Given the description of an element on the screen output the (x, y) to click on. 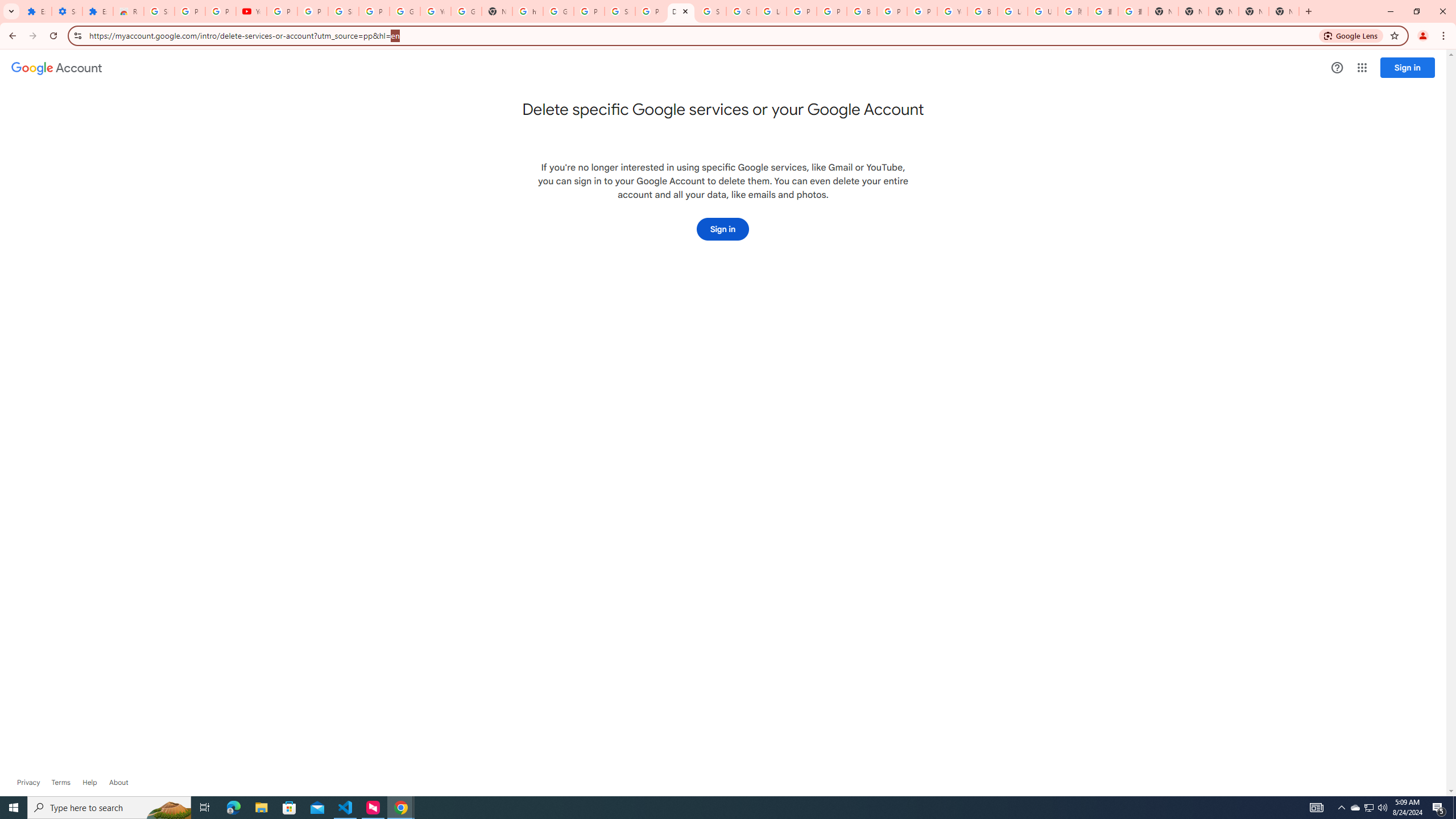
Extensions (36, 11)
Learn more about Google Account (118, 782)
Google Account (404, 11)
Browse Chrome as a guest - Computer - Google Chrome Help (982, 11)
Sign in - Google Accounts (343, 11)
YouTube (951, 11)
Sign in - Google Accounts (619, 11)
Extensions (97, 11)
